Given the description of an element on the screen output the (x, y) to click on. 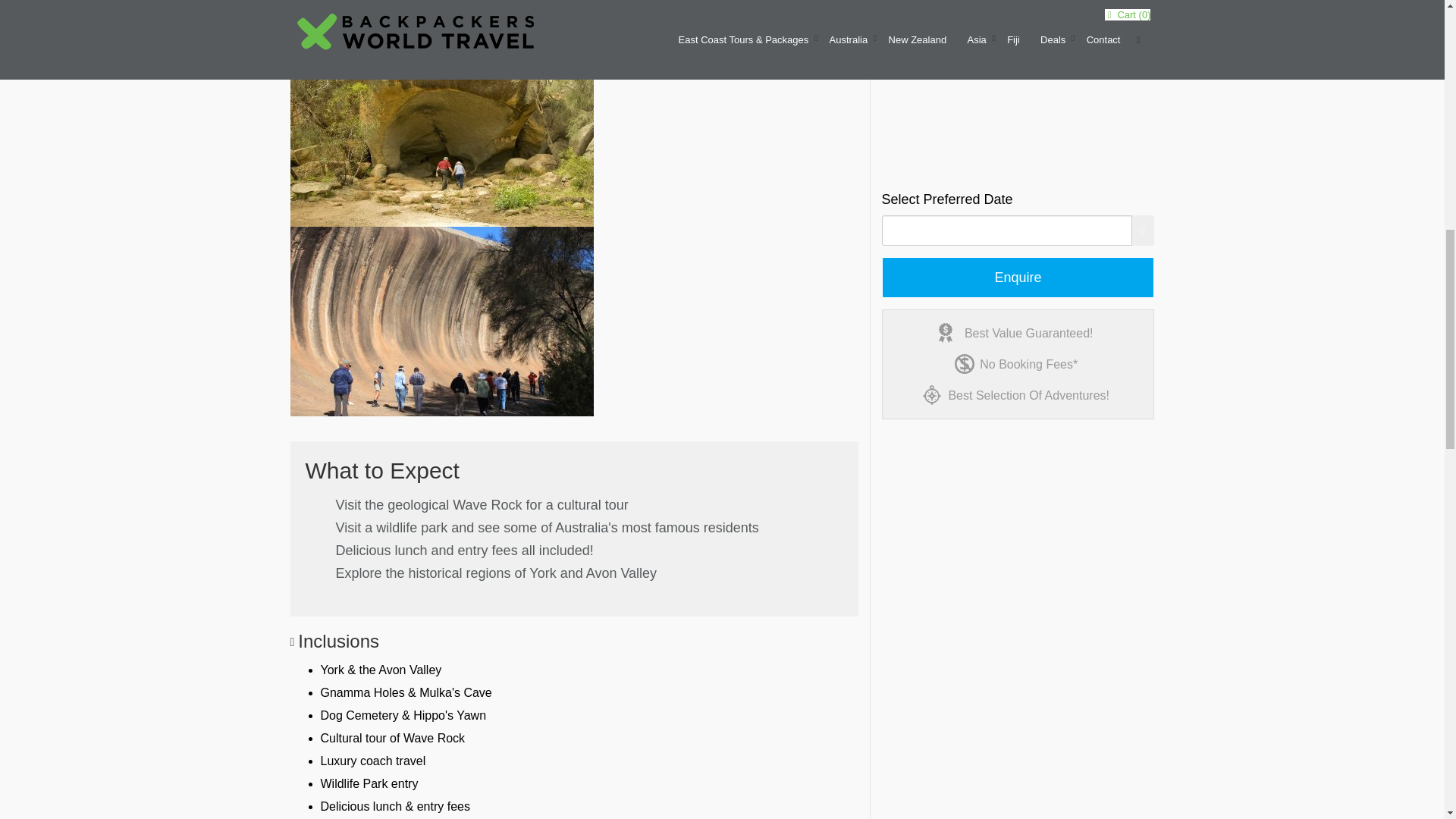
tours20WR1 (440, 321)
Hip Yawn TWA 900x500 (440, 131)
